Given the description of an element on the screen output the (x, y) to click on. 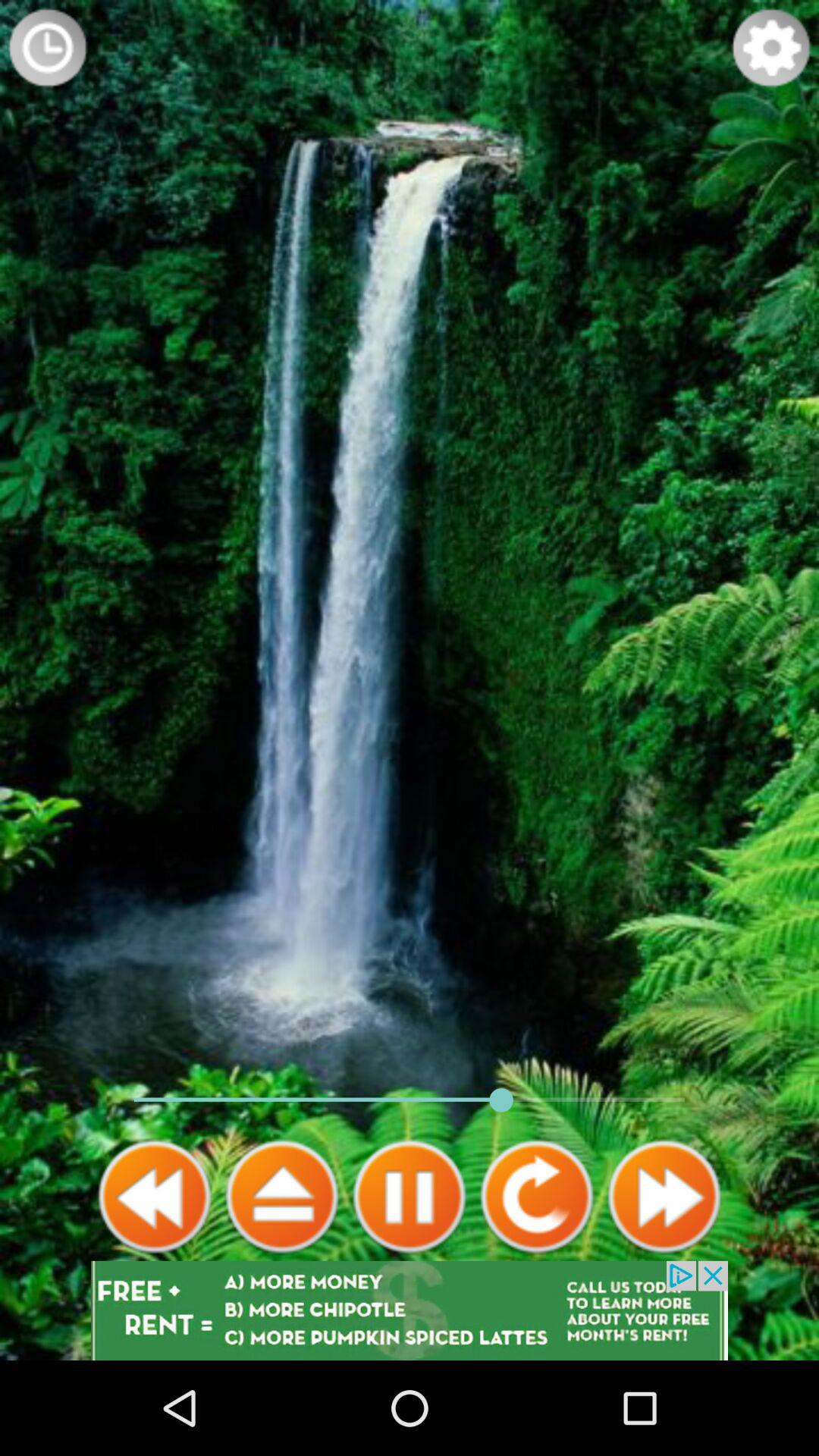
fast forward (664, 1196)
